Given the description of an element on the screen output the (x, y) to click on. 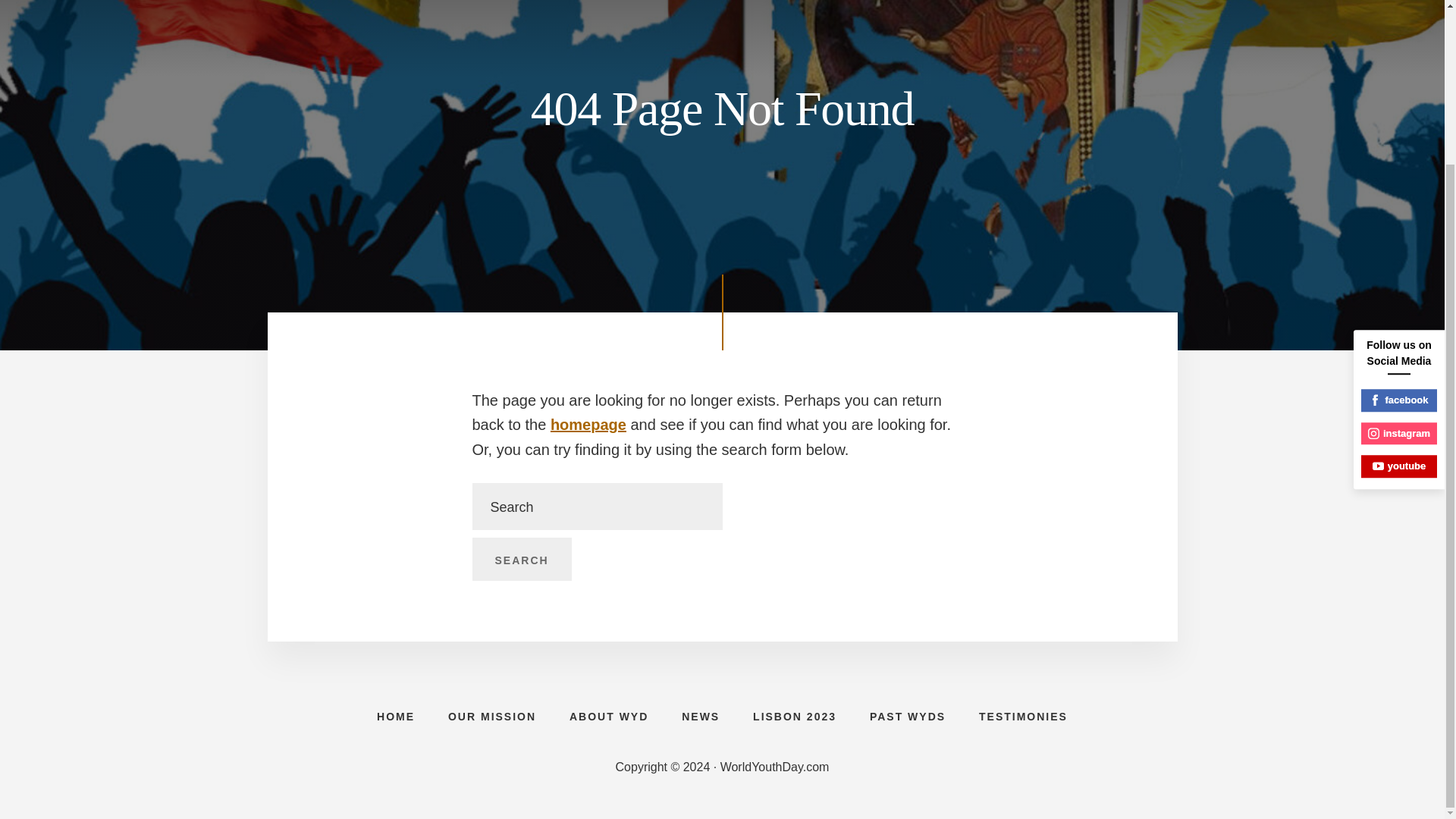
Search (520, 559)
NEWS (700, 716)
PAST WYDS (907, 716)
facebook (1399, 204)
Search (520, 559)
homepage (588, 424)
HOME (395, 716)
ABOUT WYD (608, 716)
OUR MISSION (491, 716)
instagram (1399, 237)
LISBON 2023 (794, 716)
Search (520, 559)
TESTIMONIES (1023, 716)
youtube (1399, 270)
